Given the description of an element on the screen output the (x, y) to click on. 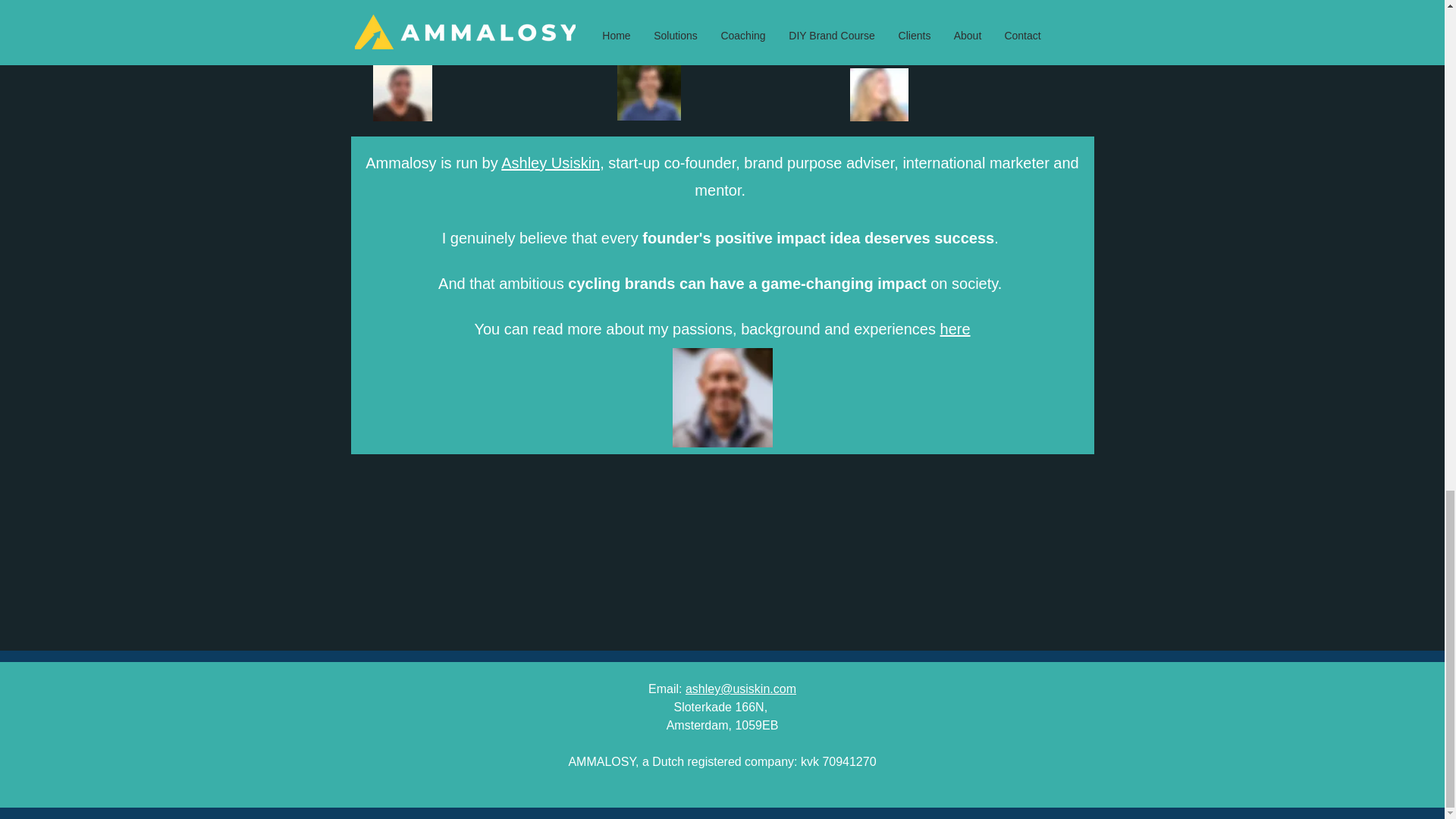
Ashley Usiskin, (552, 161)
doppio (391, 6)
Kndrd (865, 6)
here (955, 329)
Presca Sportswear (666, 20)
